Given the description of an element on the screen output the (x, y) to click on. 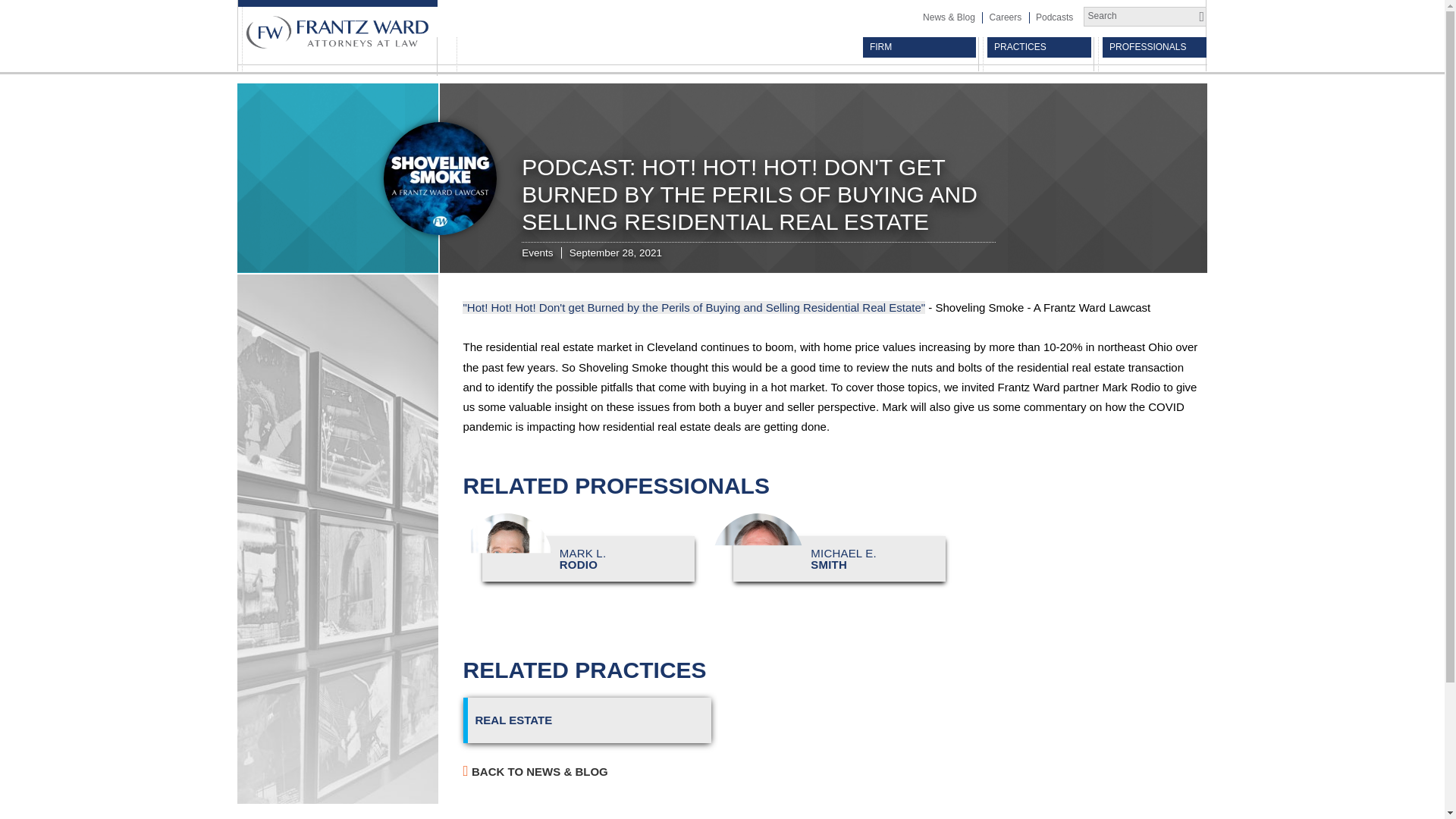
PROFESSIONALS (1154, 46)
FIRM (919, 46)
Podcasts (579, 558)
PRACTICES (1053, 17)
Careers (1038, 46)
REAL ESTATE (1004, 17)
